Given the description of an element on the screen output the (x, y) to click on. 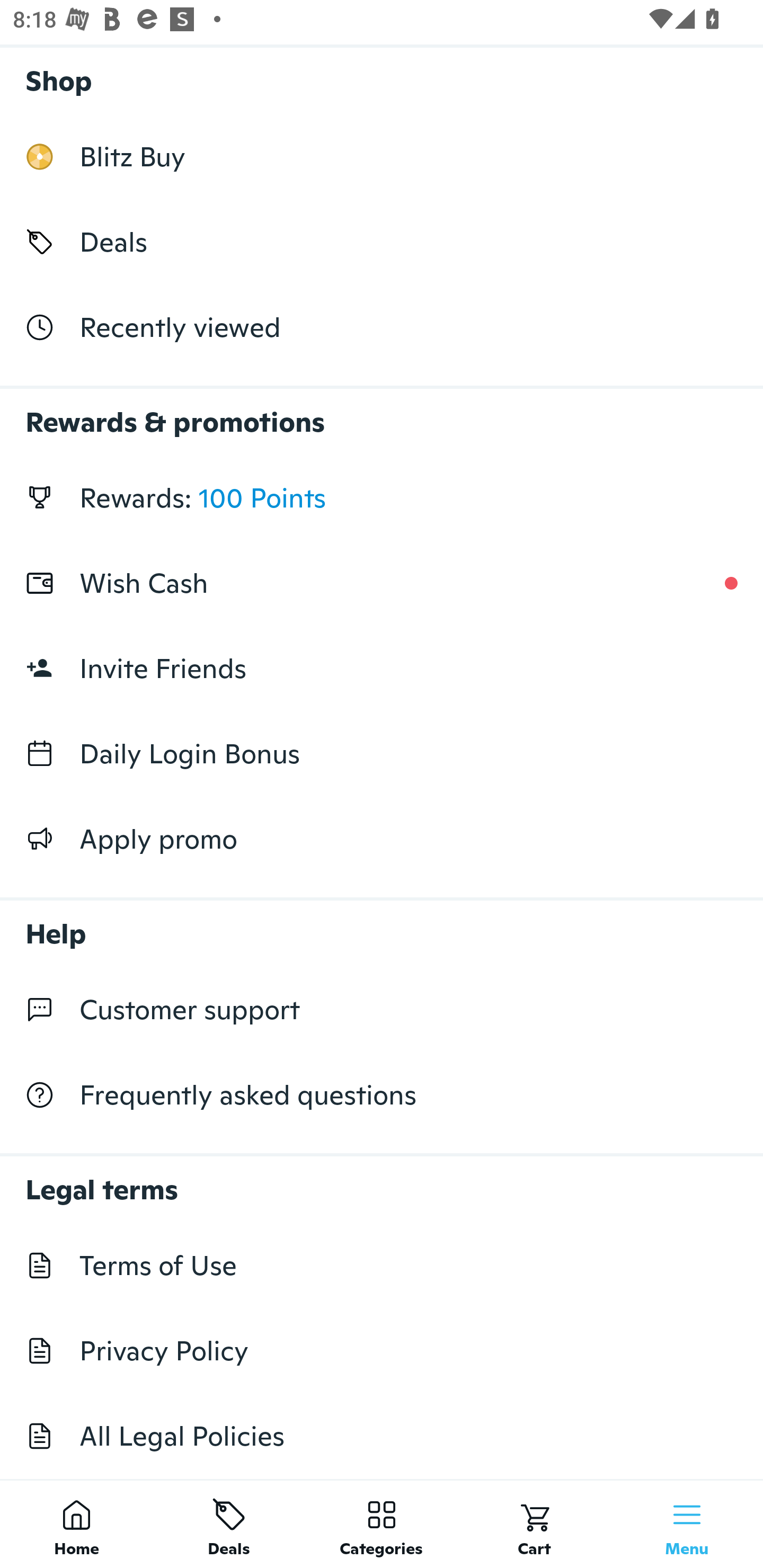
Shop (381, 75)
Blitz Buy (381, 156)
Deals (381, 242)
Recently viewed (381, 326)
Rewards & promotions (381, 413)
Rewards: 100 Points (381, 497)
Wish Cash (381, 582)
Invite Friends (381, 668)
Daily Login Bonus (381, 753)
Apply promo (381, 838)
Help (381, 924)
Customer support (381, 1009)
Frequently asked questions (381, 1095)
Legal terms (381, 1179)
Terms of Use (381, 1265)
Privacy Policy (381, 1350)
All Legal Policies (381, 1435)
Home (76, 1523)
Deals (228, 1523)
Categories (381, 1523)
Cart (533, 1523)
Menu (686, 1523)
